Given the description of an element on the screen output the (x, y) to click on. 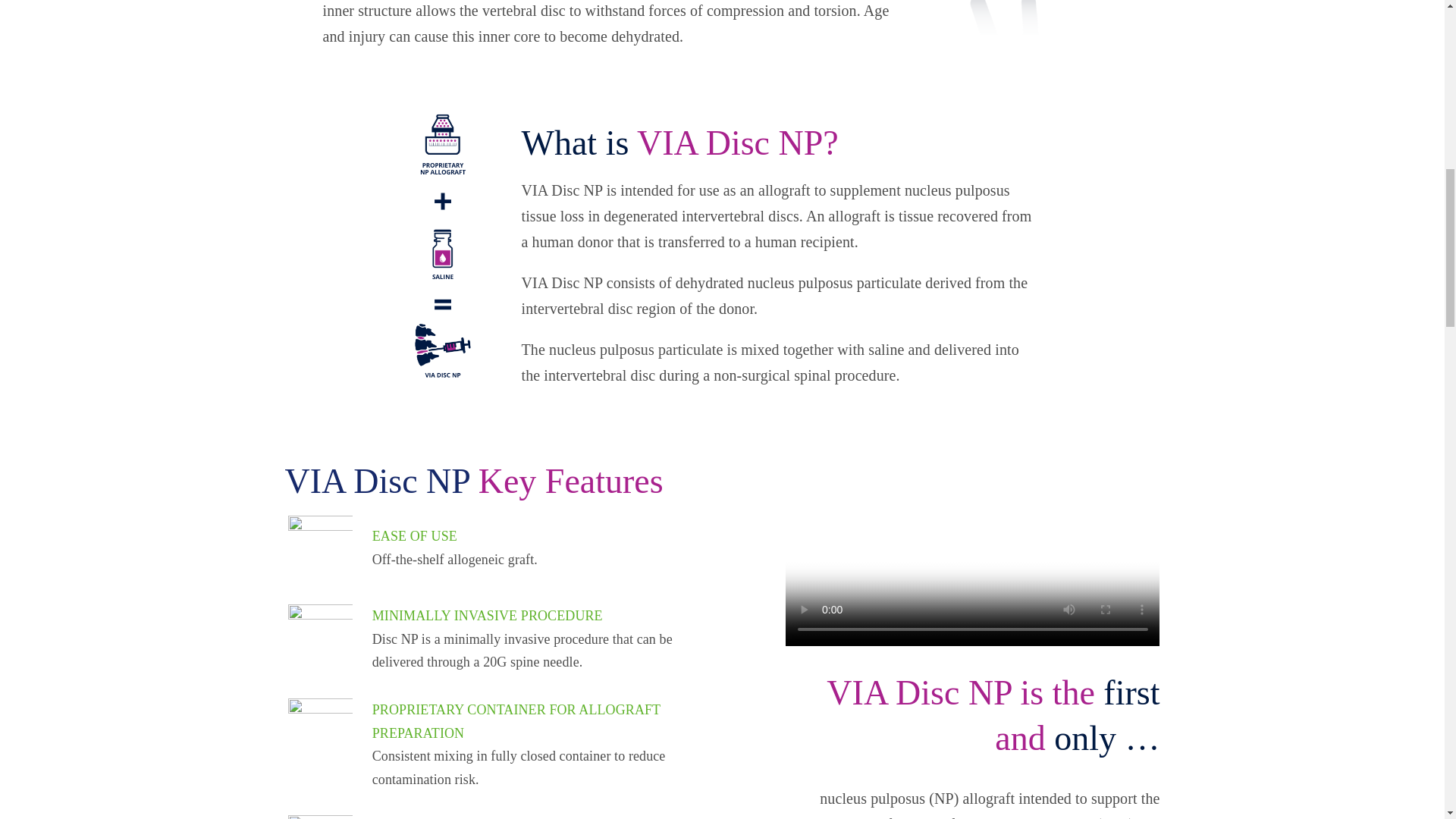
Determining Discogenic Low Back Pain (1026, 17)
Ease of Use (320, 547)
Supplements the Disc (320, 816)
Minimally Invasive Procedure (320, 636)
Proprietary Container for Allograft Preparation (320, 730)
